Given the description of an element on the screen output the (x, y) to click on. 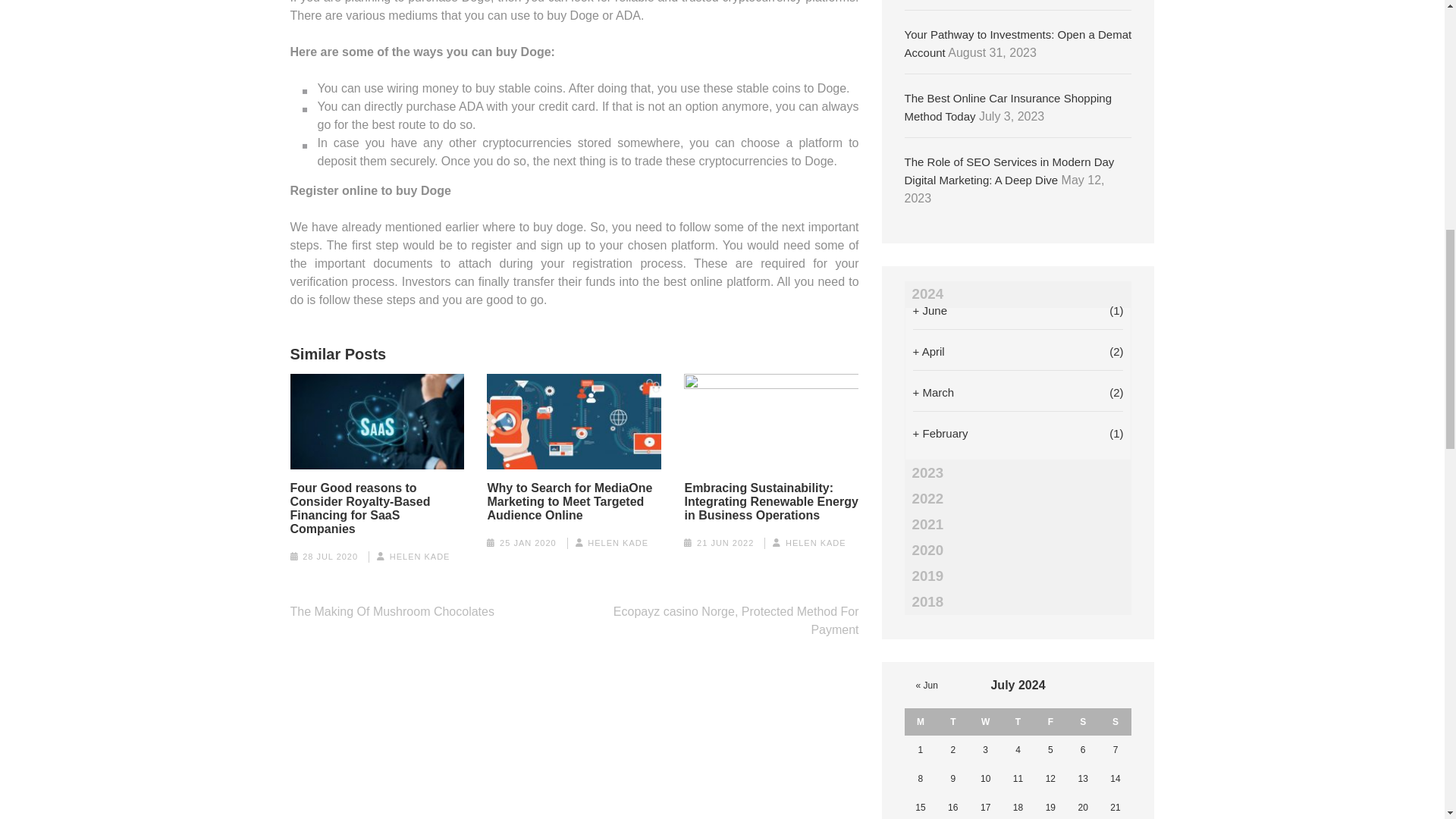
Monday (920, 721)
Thursday (1017, 721)
Saturday (1083, 721)
Wednesday (985, 721)
Friday (1050, 721)
Tuesday (952, 721)
Sunday (1115, 721)
